Given the description of an element on the screen output the (x, y) to click on. 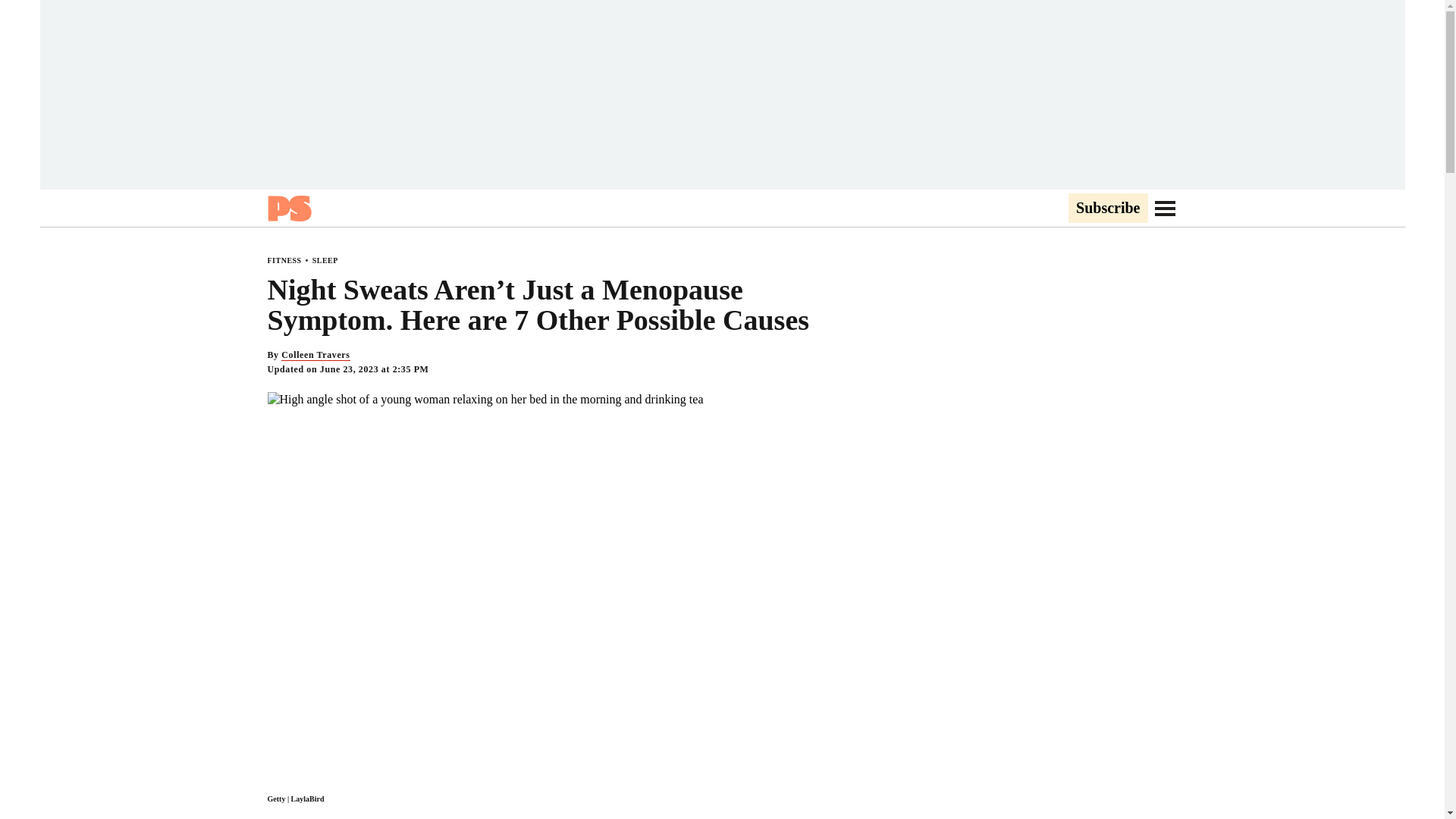
SLEEP (325, 260)
Colleen Travers (315, 355)
Subscribe (1107, 208)
Popsugar (288, 208)
Go to Navigation (1164, 207)
Go to Navigation (1164, 207)
FITNESS (283, 260)
